Given the description of an element on the screen output the (x, y) to click on. 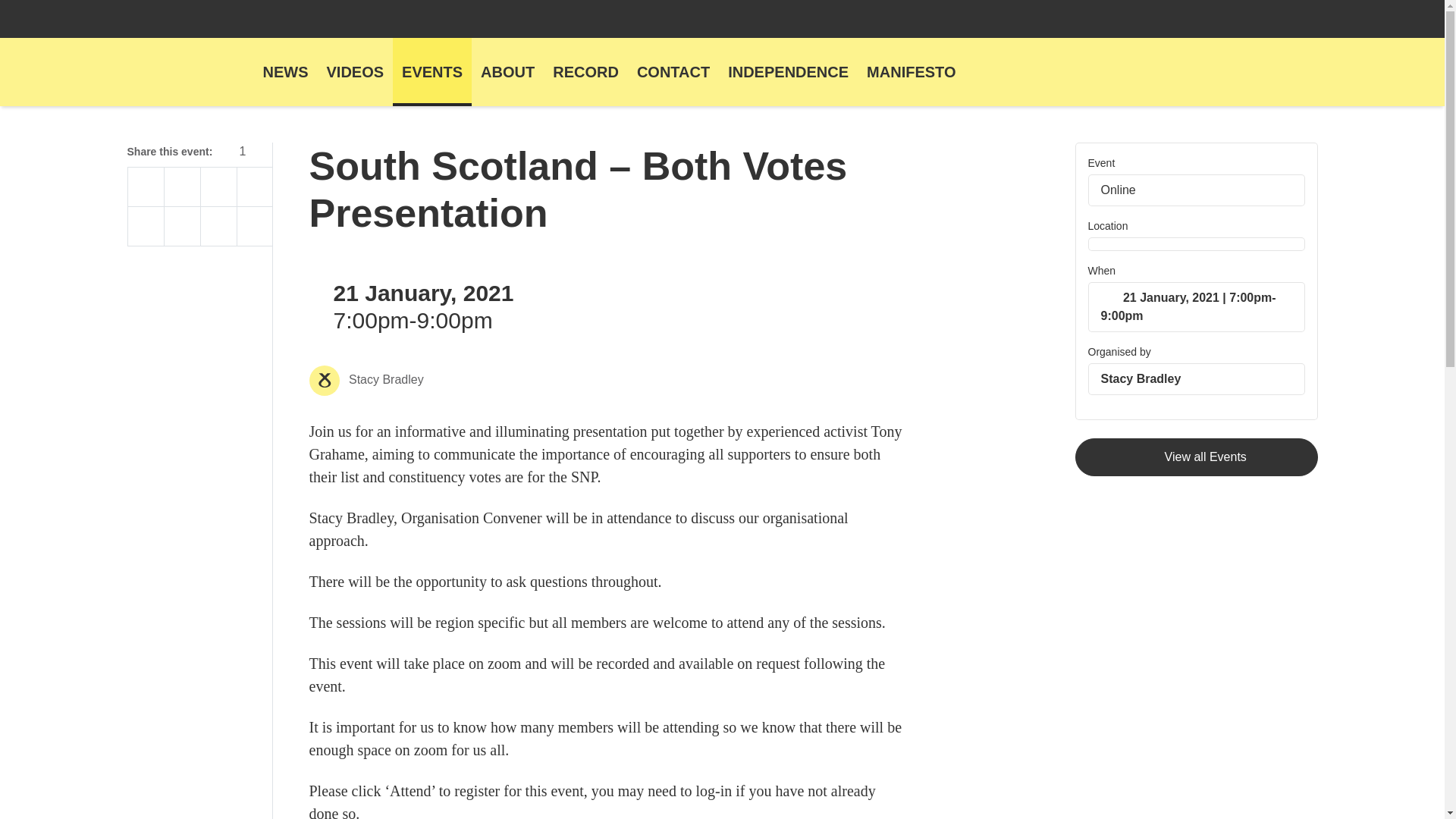
RECORD (585, 71)
NEWS (285, 71)
ABOUT (507, 71)
Facebook Messenger Share (254, 187)
Whatsapp Share (217, 187)
Print Share (145, 226)
CONTACT (673, 71)
Linkedin Share (217, 226)
MANIFESTO (910, 71)
INDEPENDENCE (788, 71)
